Given the description of an element on the screen output the (x, y) to click on. 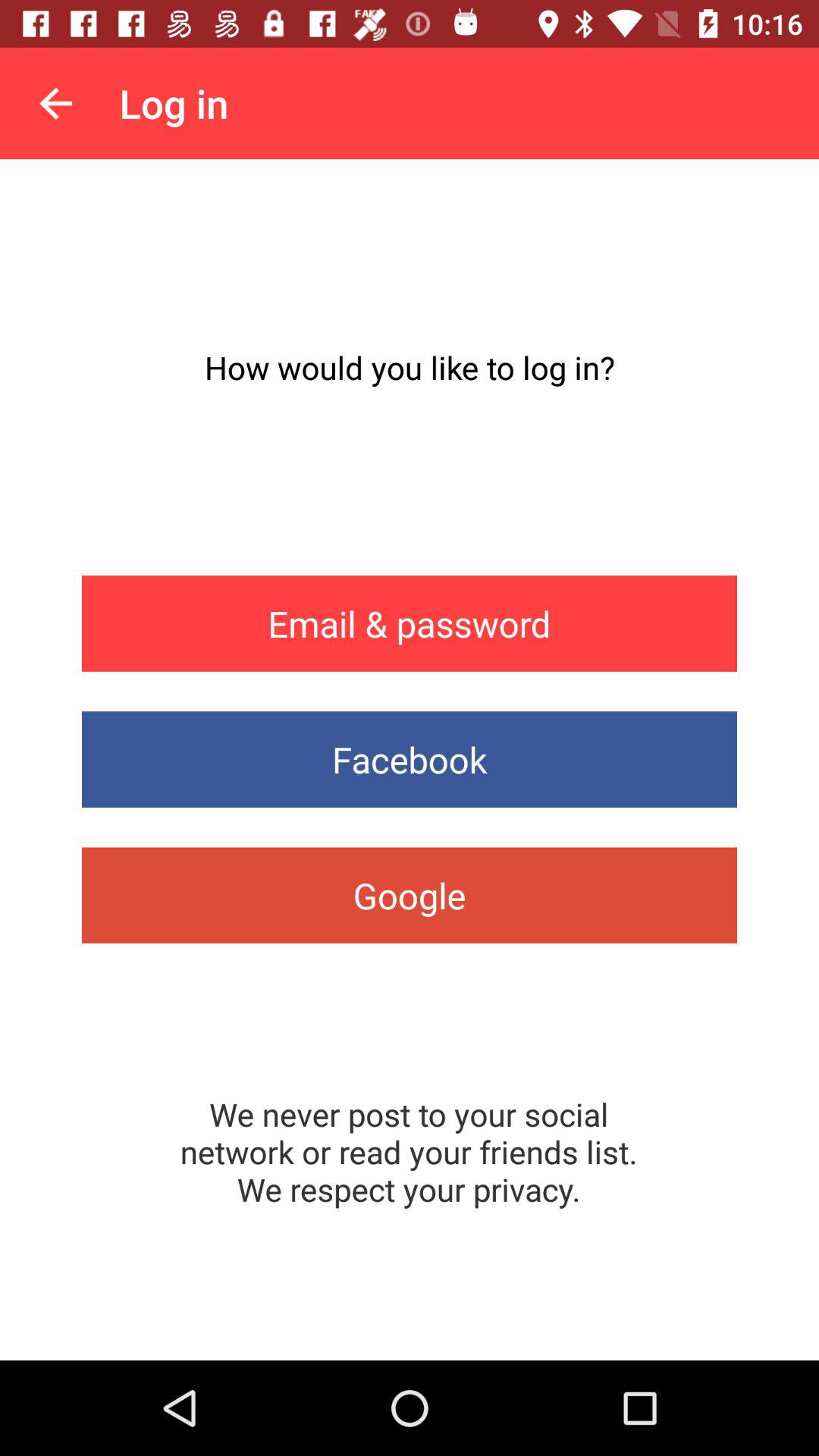
swipe until the google app (409, 895)
